Given the description of an element on the screen output the (x, y) to click on. 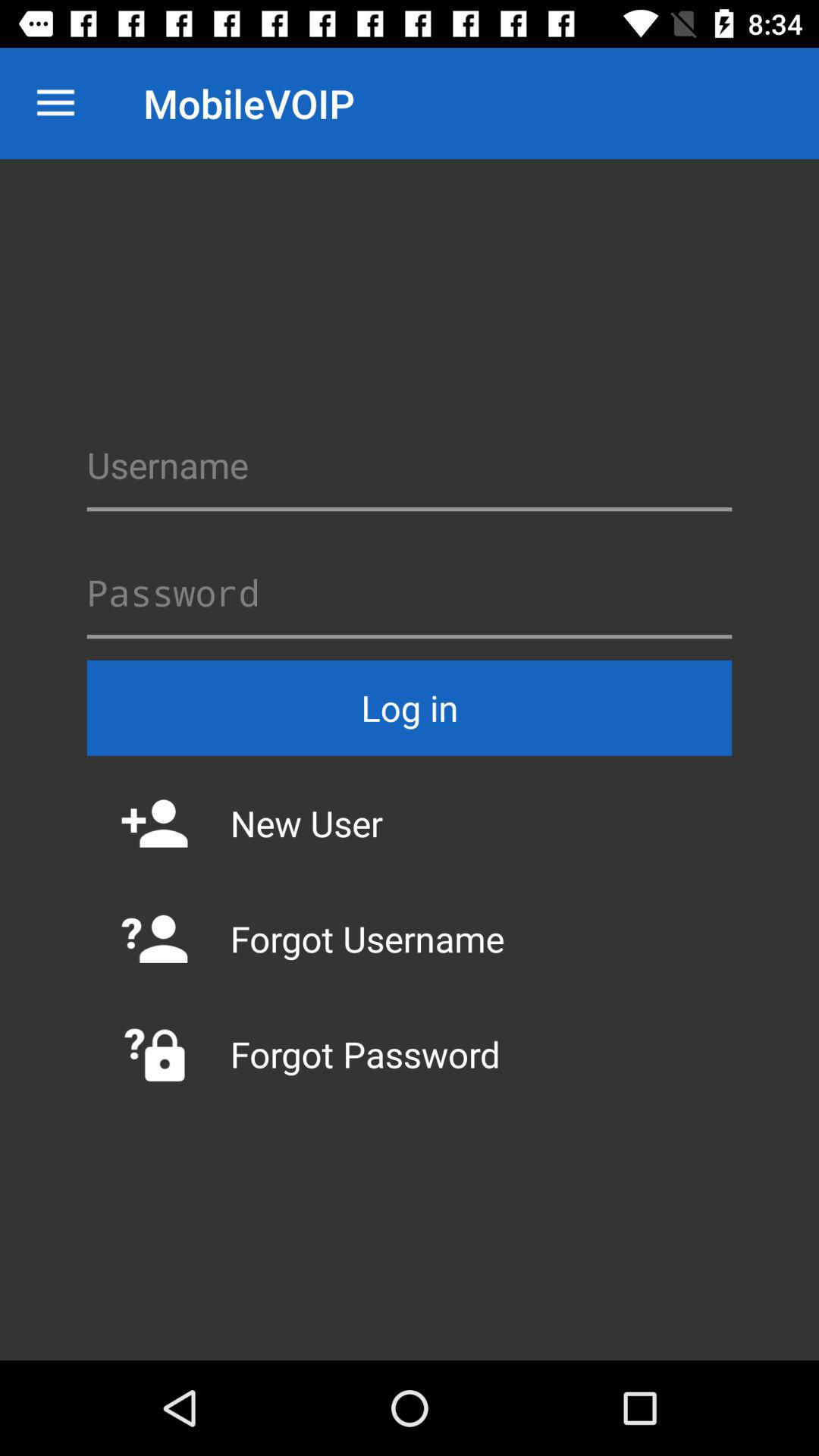
scroll until the forgot username (409, 938)
